Given the description of an element on the screen output the (x, y) to click on. 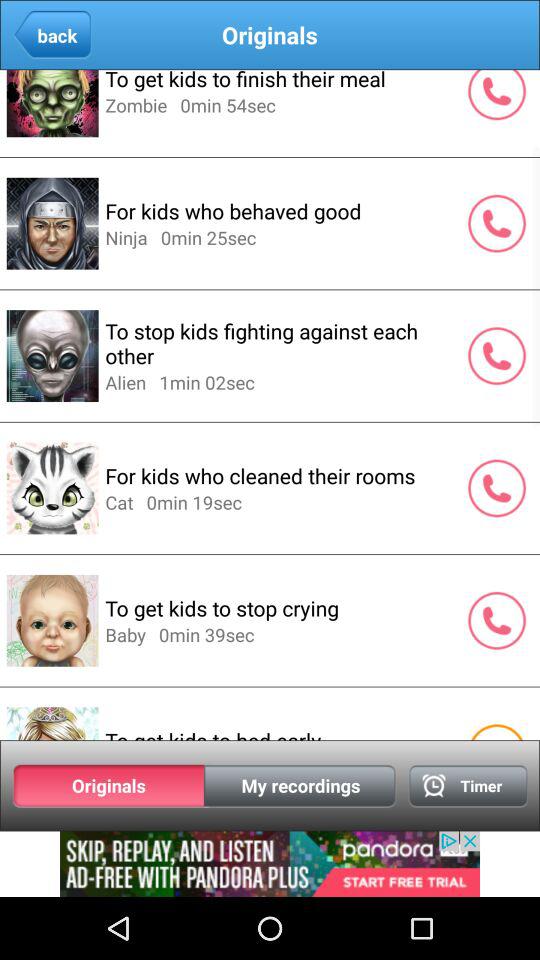
clock page (468, 785)
